Given the description of an element on the screen output the (x, y) to click on. 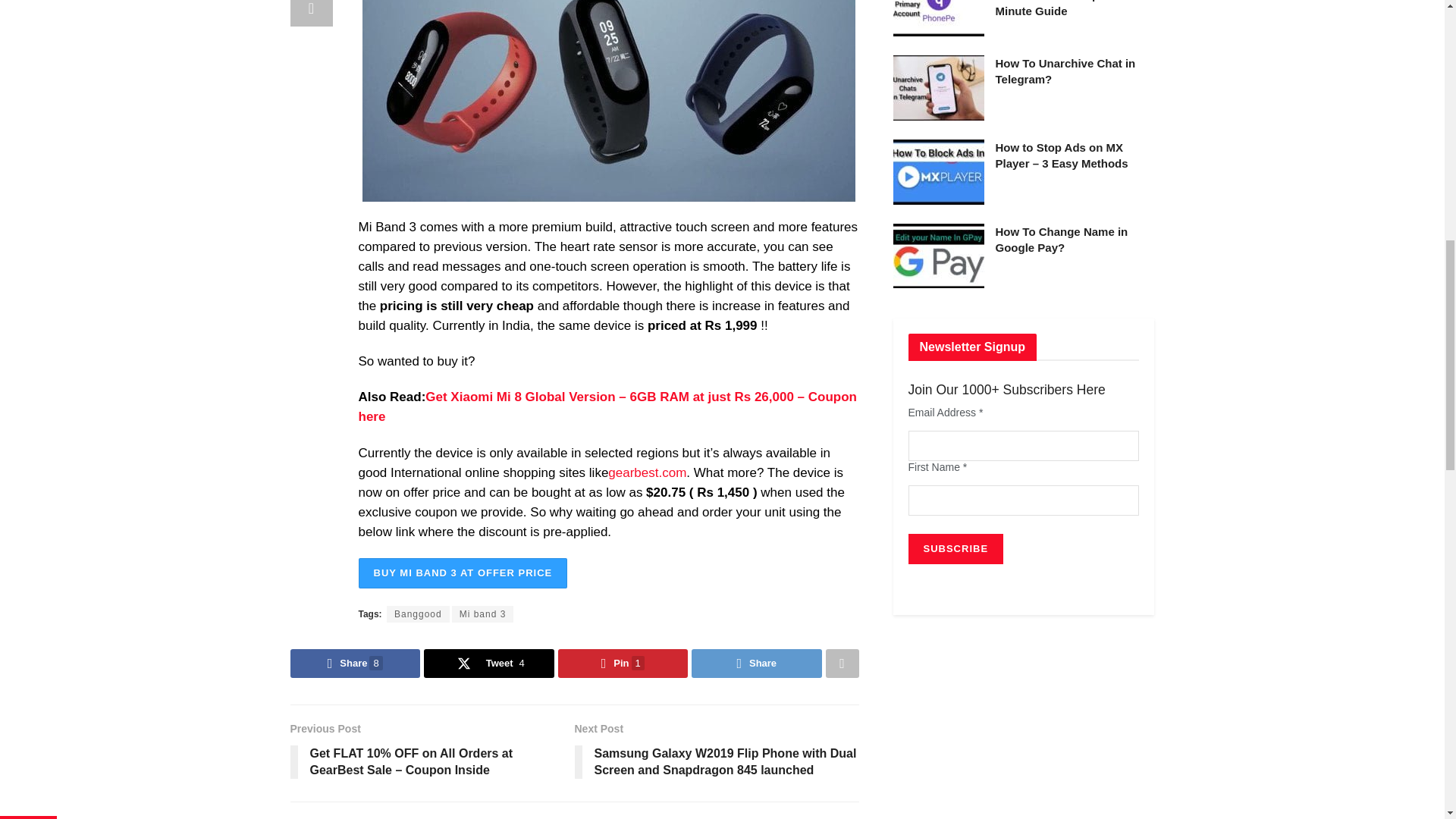
Subscribe (956, 548)
